Given the description of an element on the screen output the (x, y) to click on. 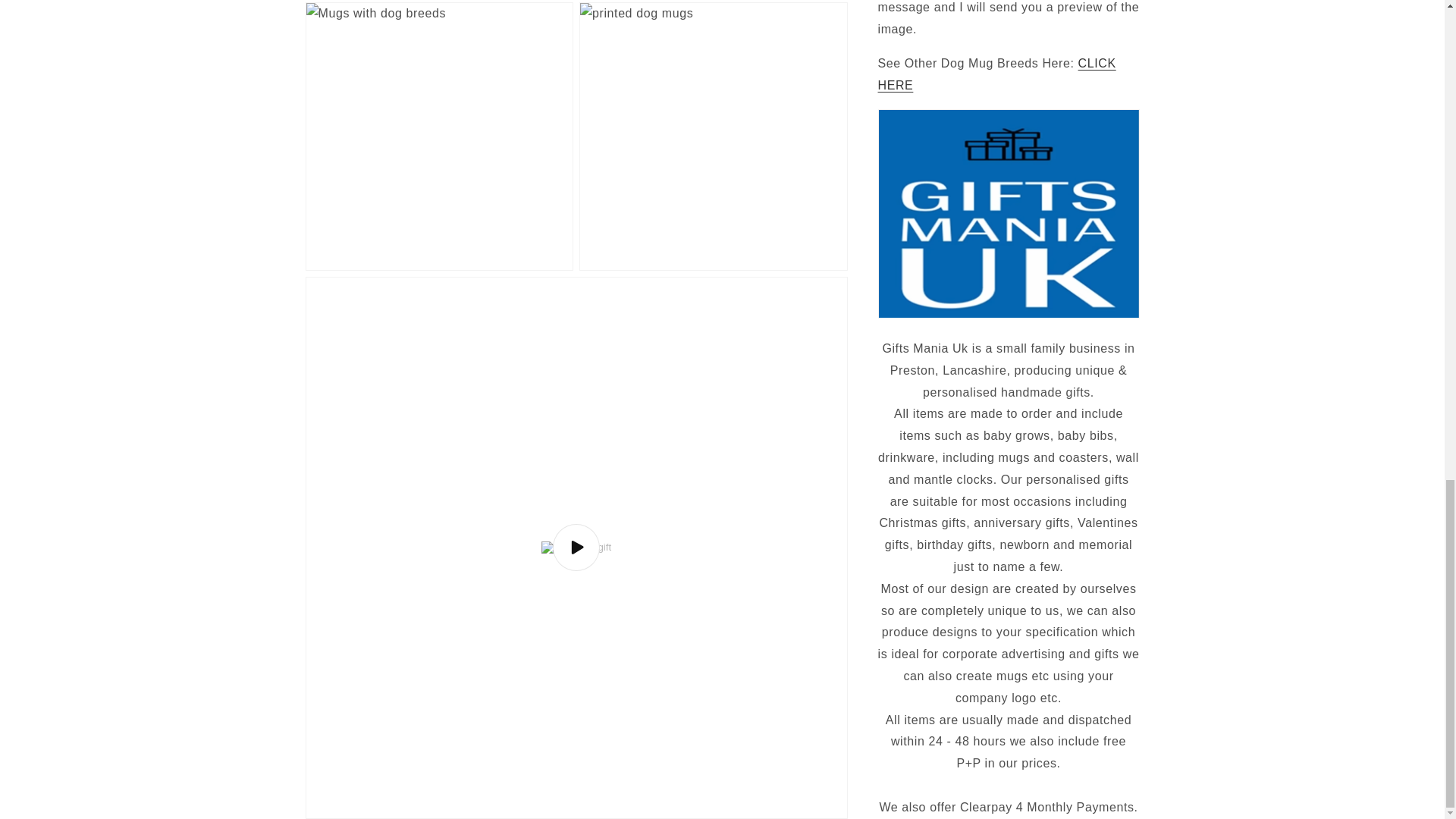
doggie mug collection (996, 54)
